Given the description of an element on the screen output the (x, y) to click on. 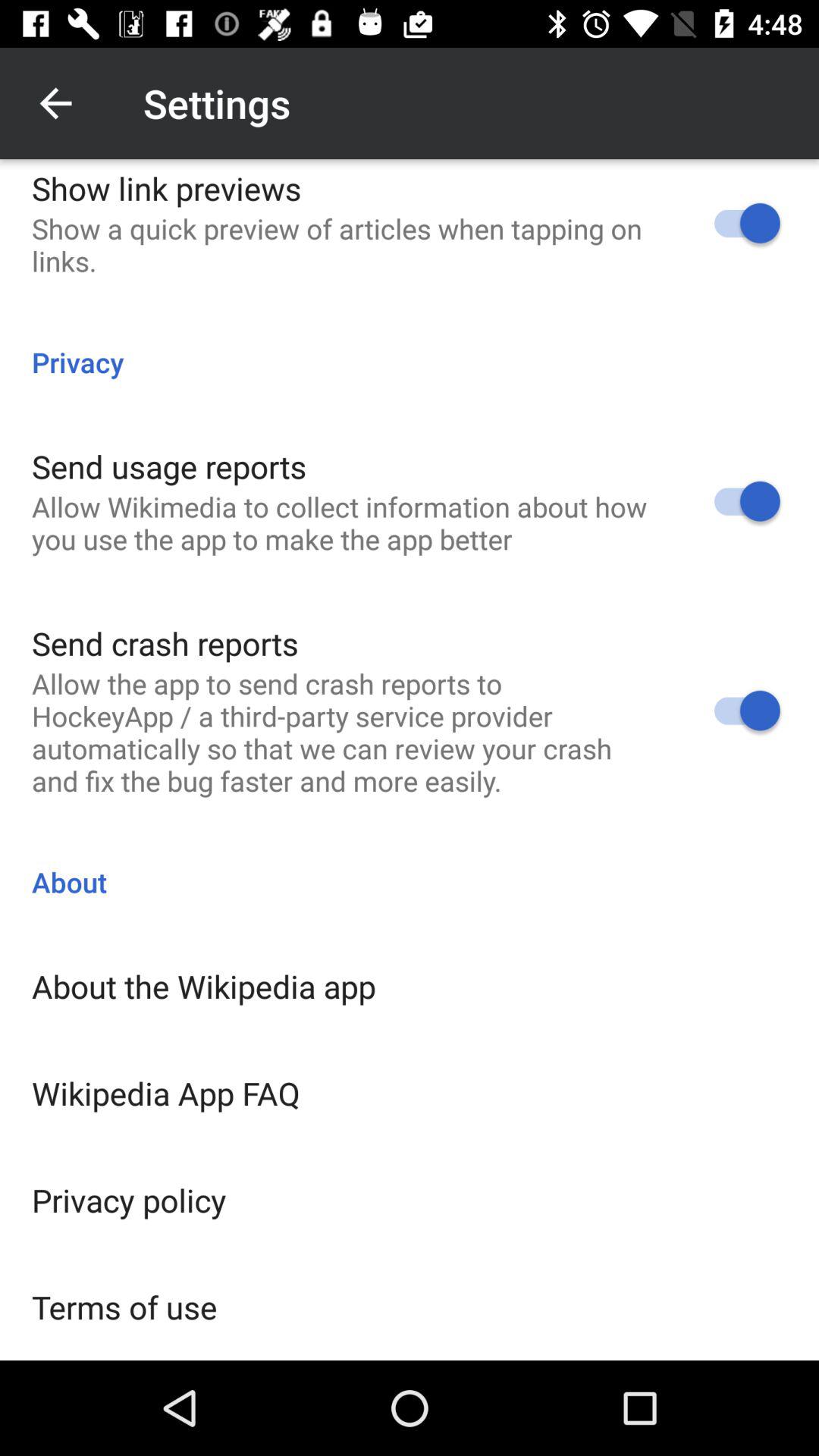
choose icon above show link previews (55, 103)
